Given the description of an element on the screen output the (x, y) to click on. 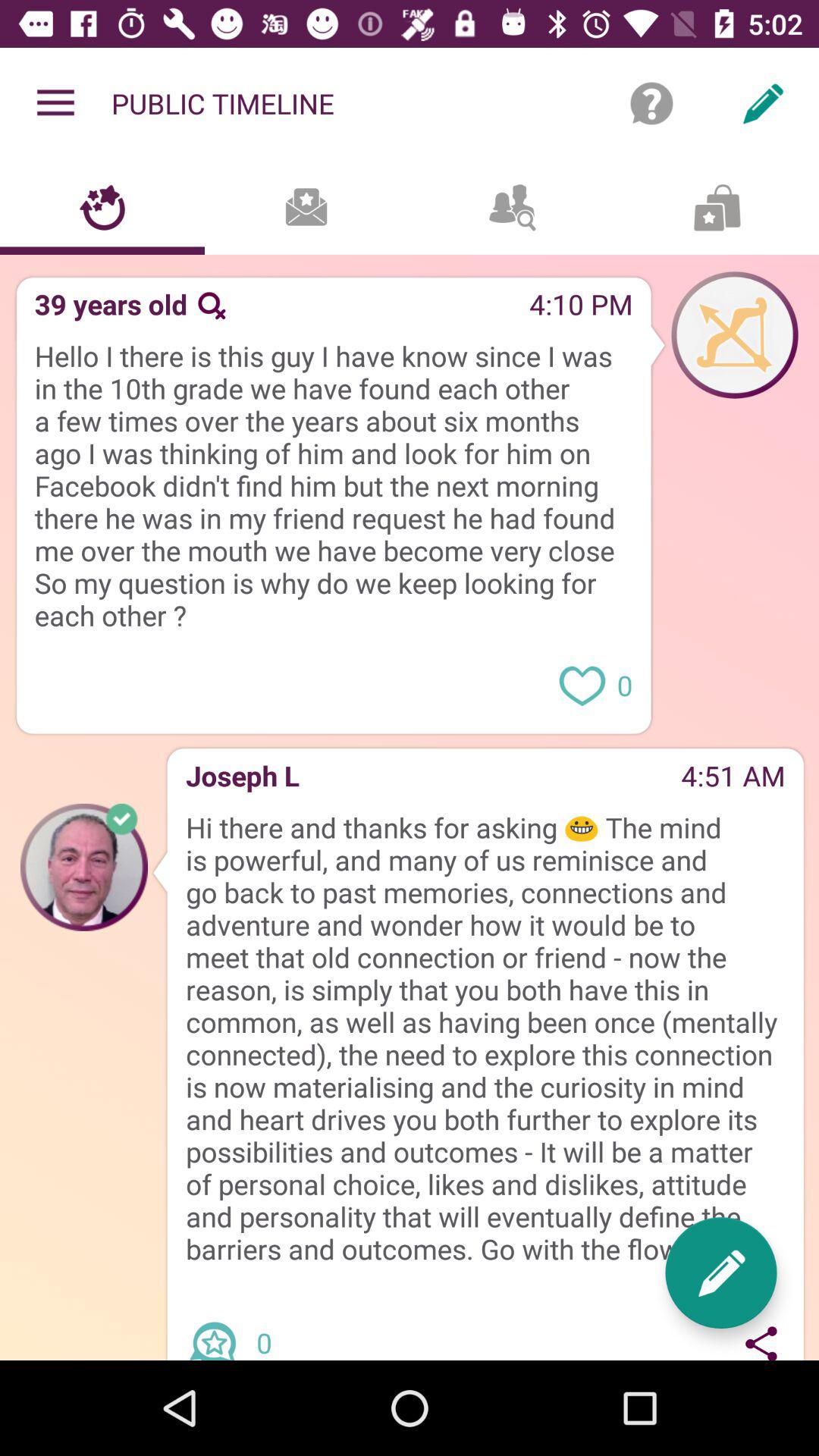
launch icon next to 0 icon (720, 1272)
